Given the description of an element on the screen output the (x, y) to click on. 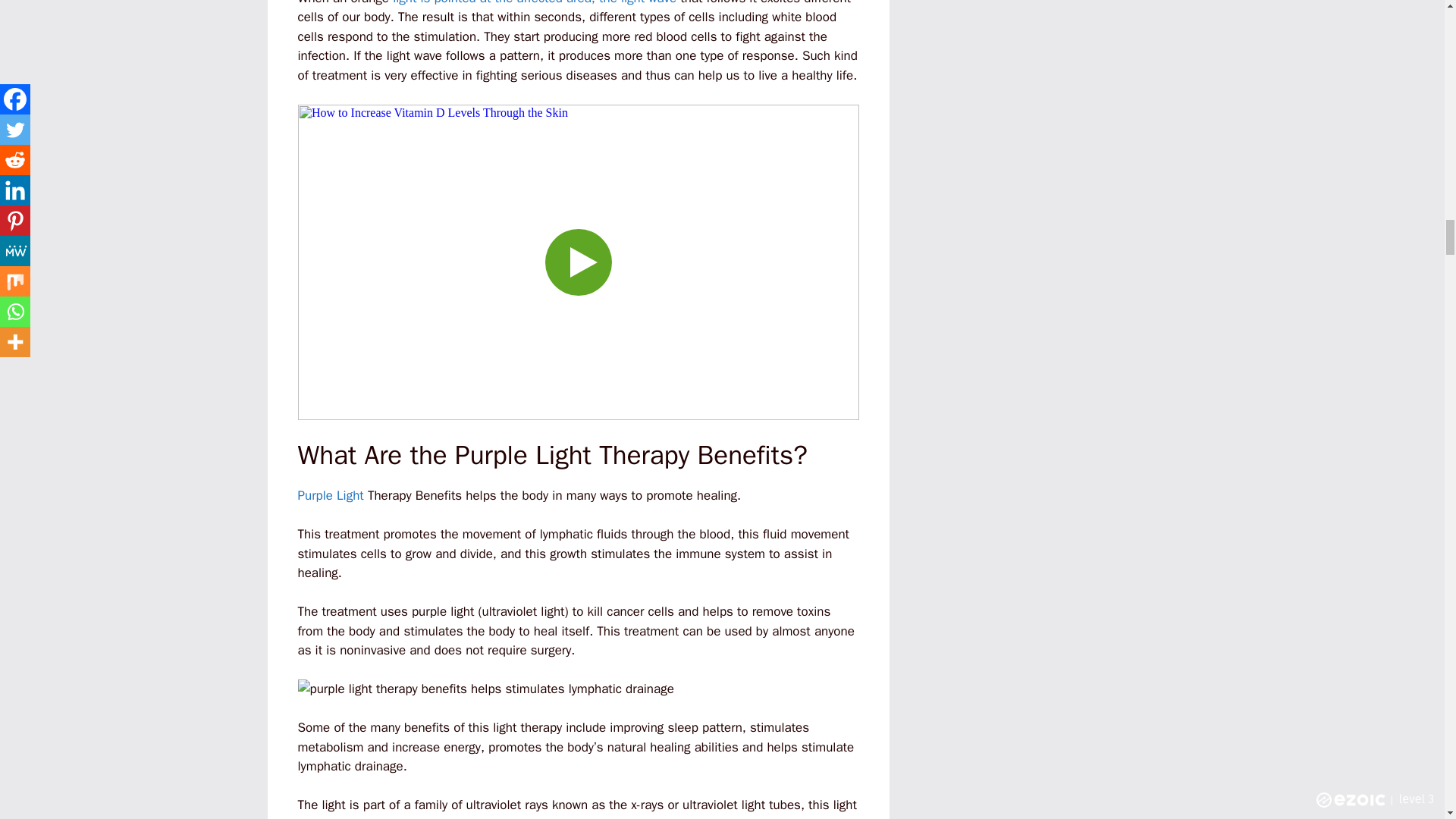
light is pointed at the affected area, the light wave (535, 2)
Purple Light (329, 495)
